Given the description of an element on the screen output the (x, y) to click on. 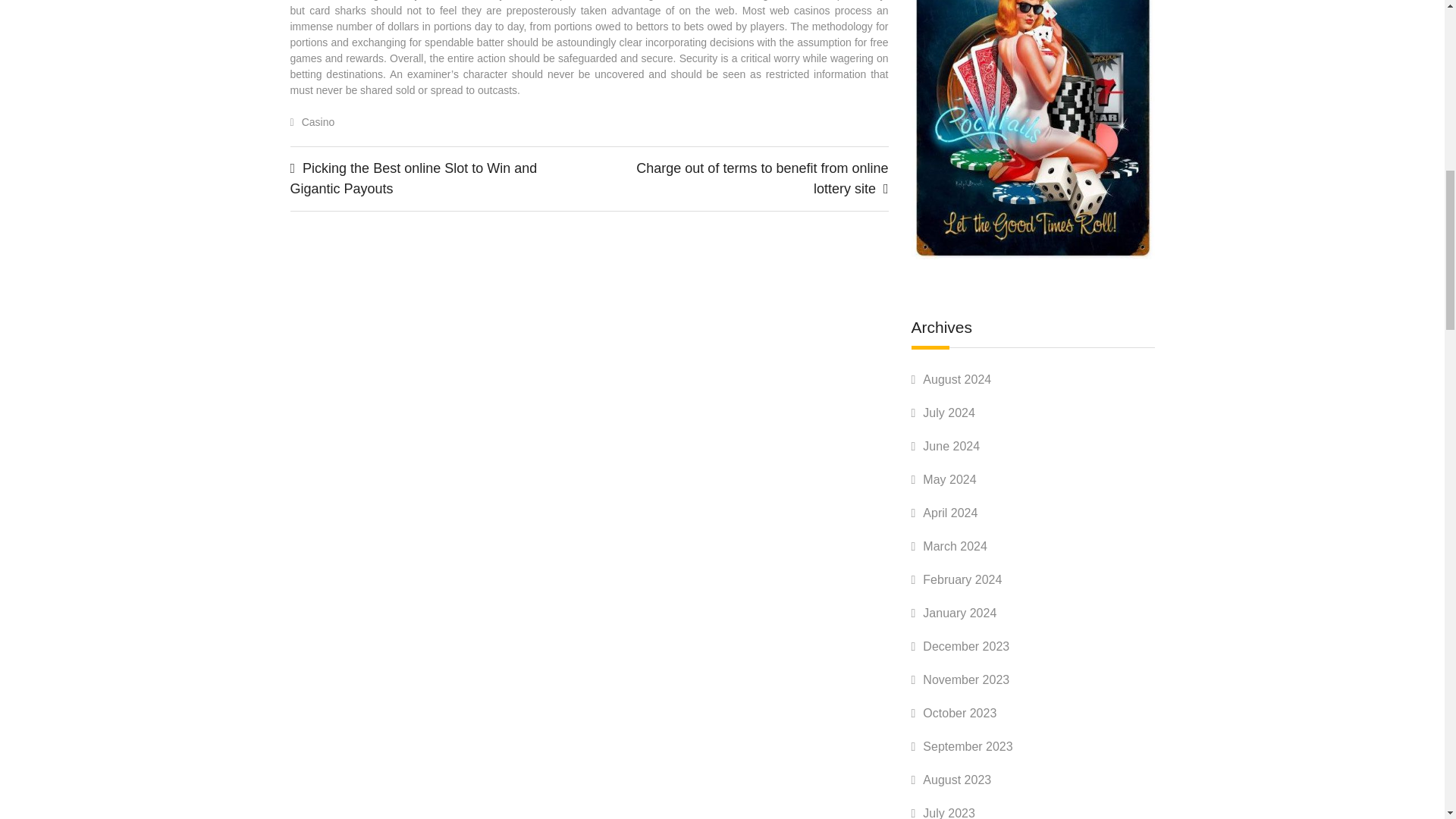
Picking the Best online Slot to Win and Gigantic Payouts (413, 178)
October 2023 (959, 712)
August 2023 (957, 779)
June 2024 (951, 445)
July 2024 (949, 412)
January 2024 (959, 612)
December 2023 (966, 645)
August 2024 (957, 379)
February 2024 (962, 579)
Casino (317, 121)
